Given the description of an element on the screen output the (x, y) to click on. 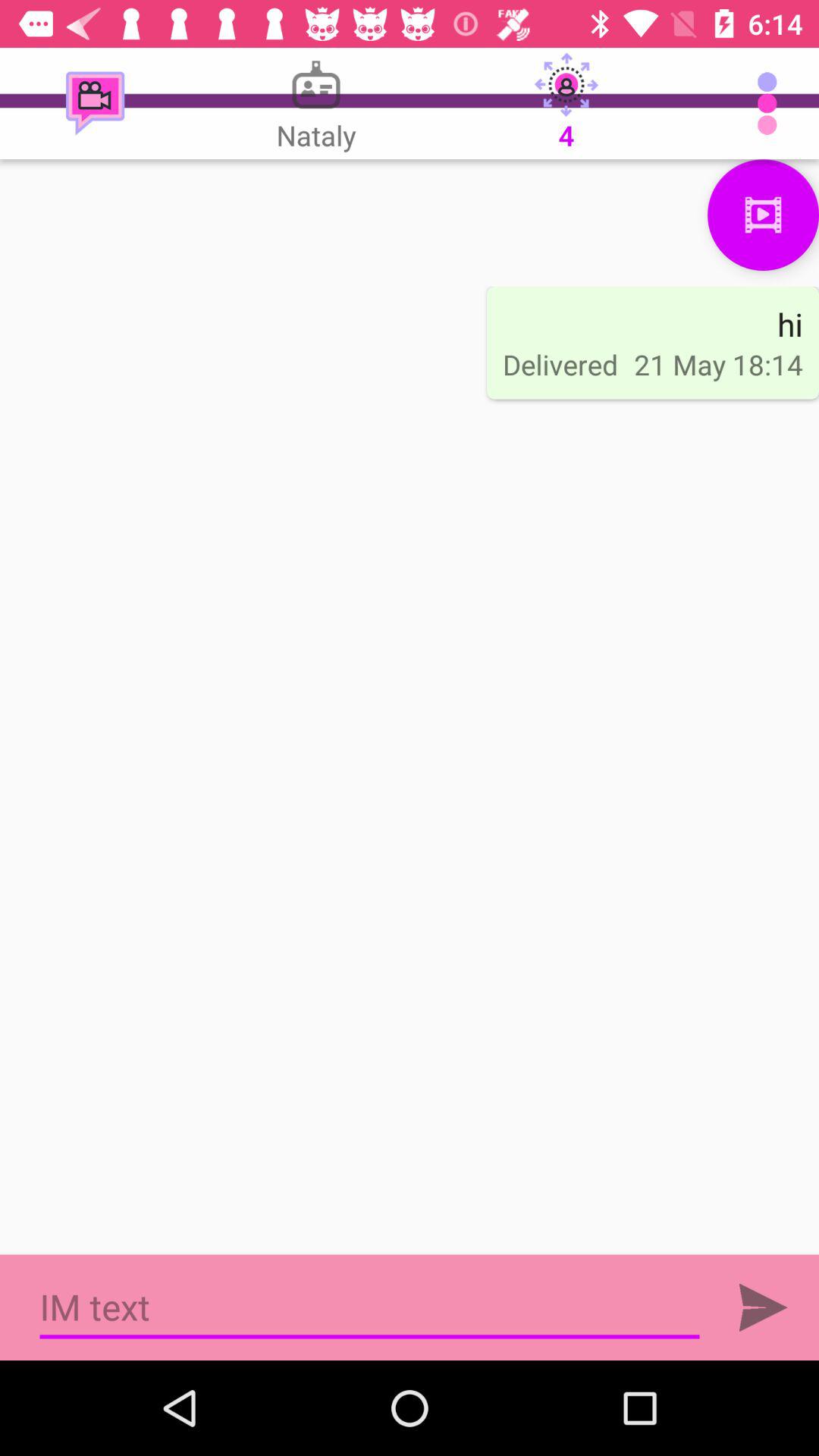
message box (369, 1307)
